Given the description of an element on the screen output the (x, y) to click on. 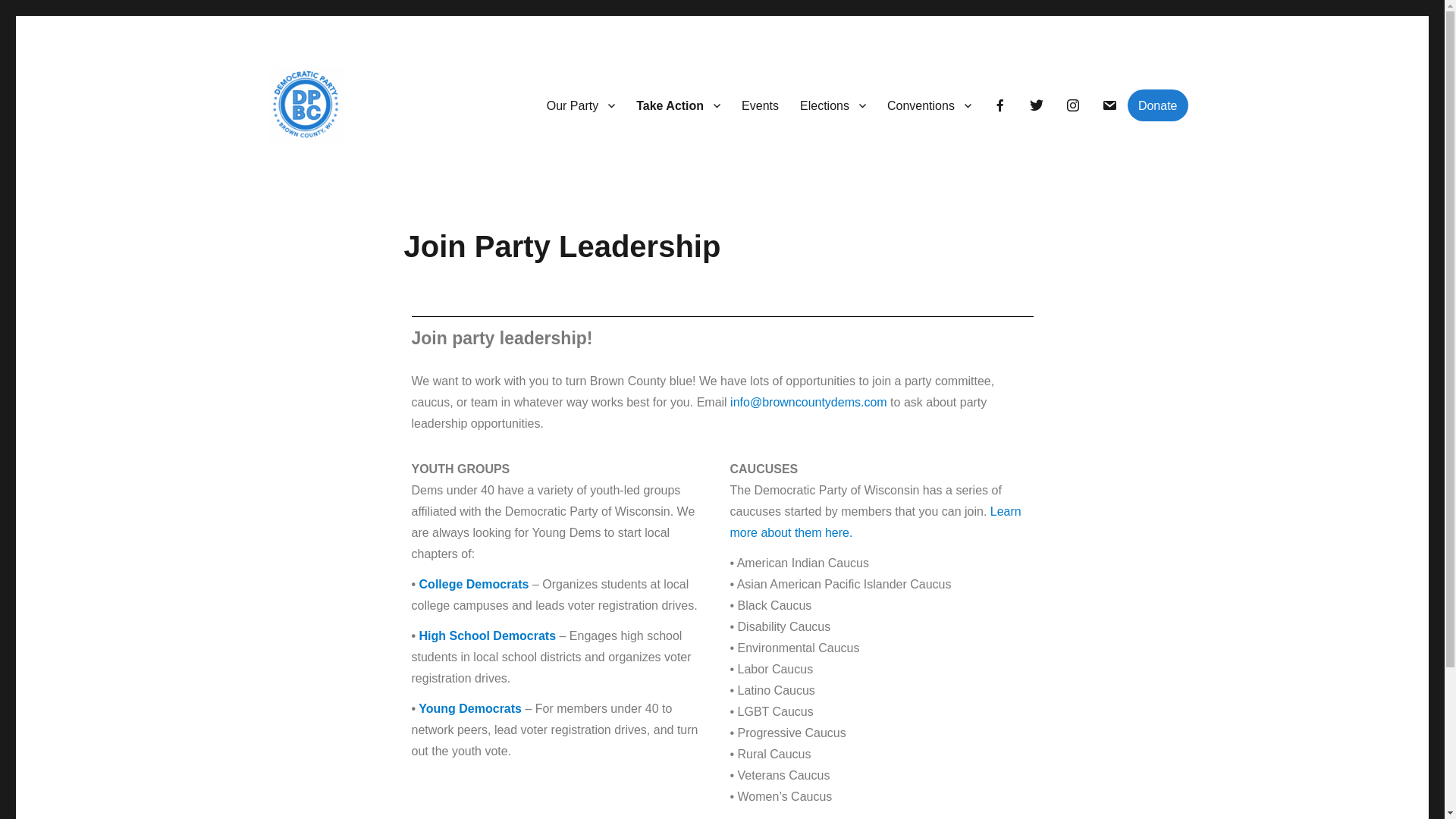
Conventions (928, 105)
High School Democrats (487, 635)
Donate (1157, 105)
Learn more about them here. (874, 521)
Elections (832, 105)
Take Action (678, 105)
Democratic Party of Brown County (442, 167)
Our Party (580, 105)
College Democrats (474, 584)
Young Democrats (470, 707)
